Given the description of an element on the screen output the (x, y) to click on. 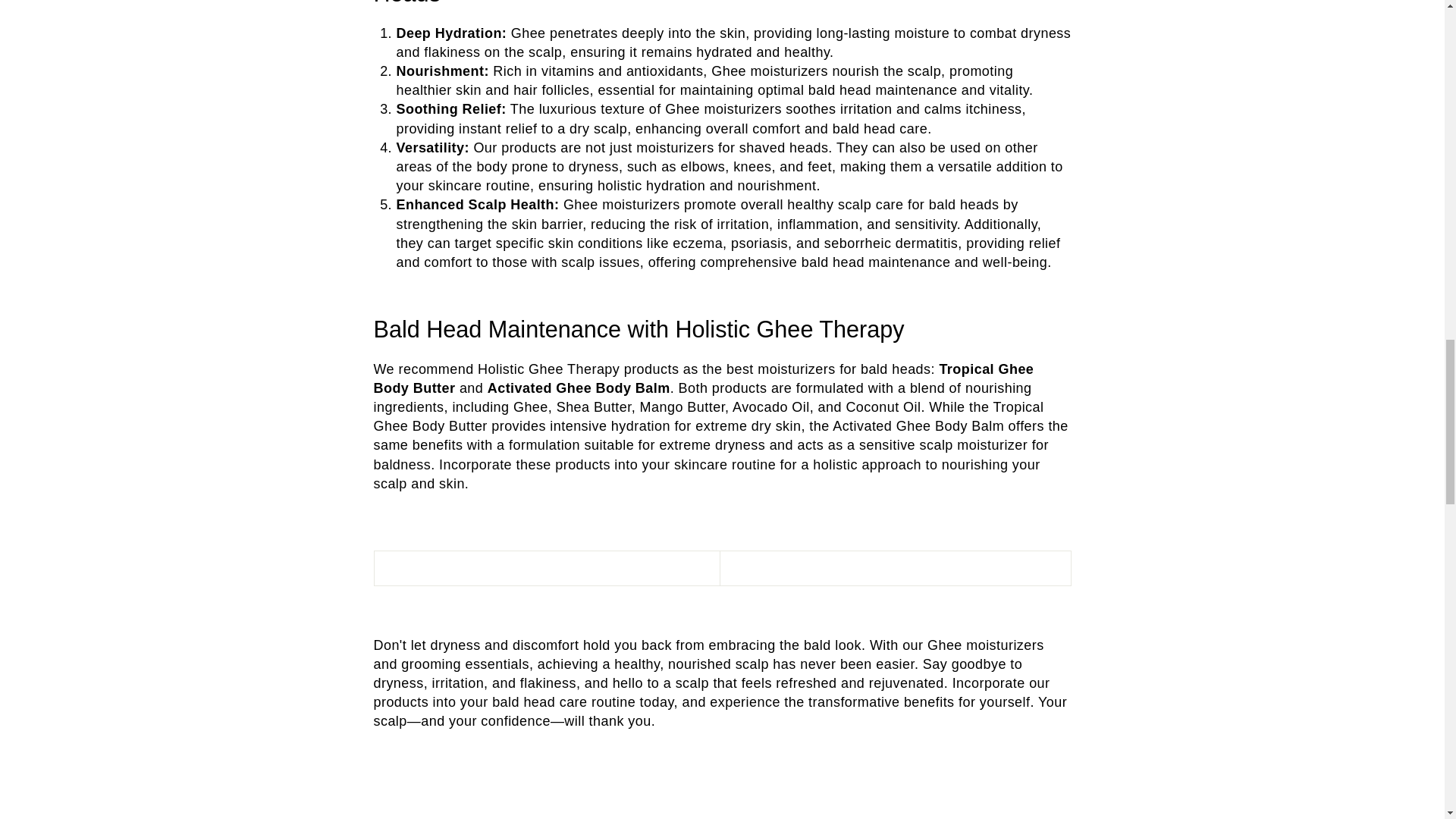
YouTube video player (721, 803)
